Given the description of an element on the screen output the (x, y) to click on. 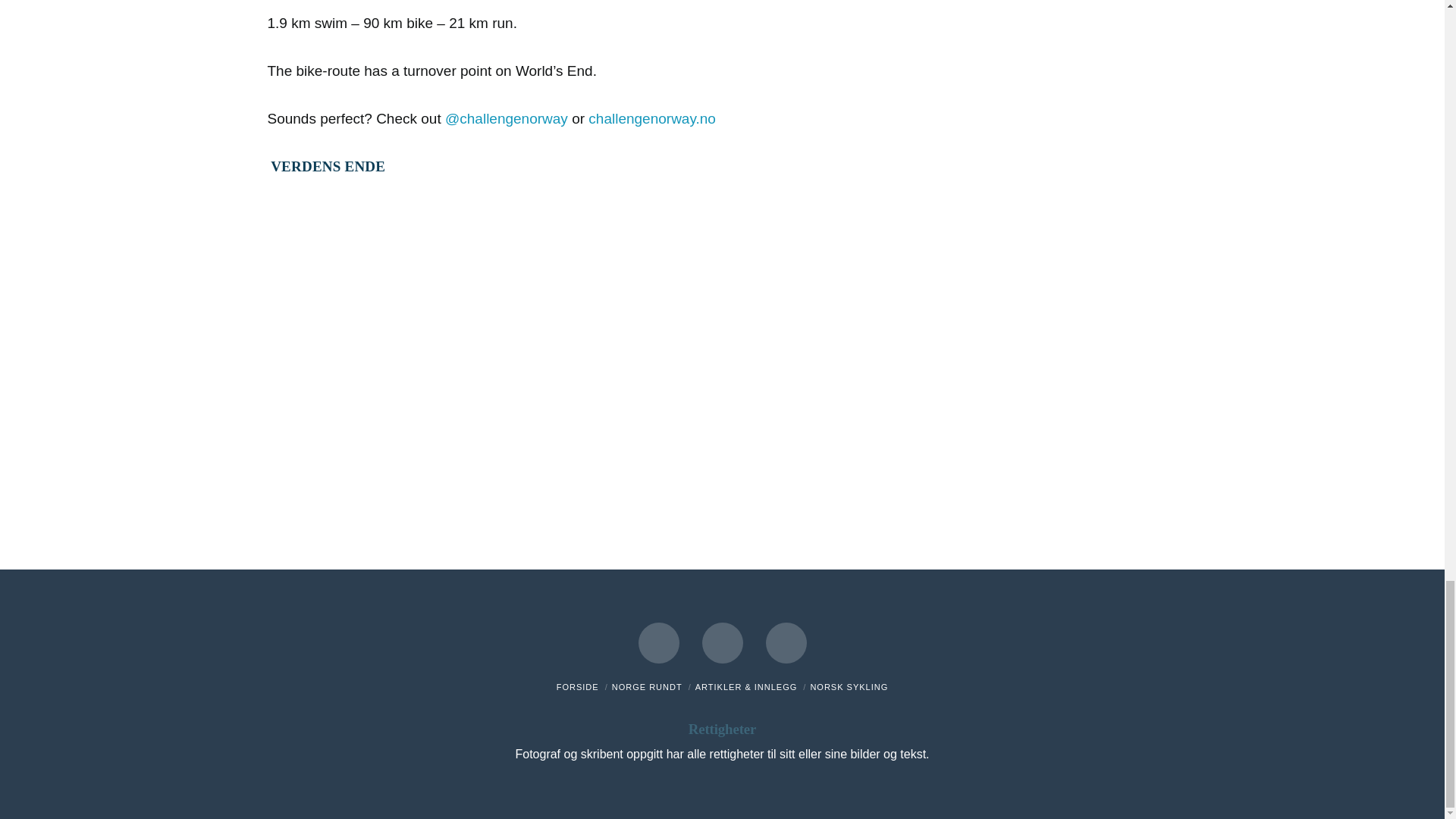
Facebook (659, 642)
Instagram (785, 642)
Twitter (721, 642)
